Given the description of an element on the screen output the (x, y) to click on. 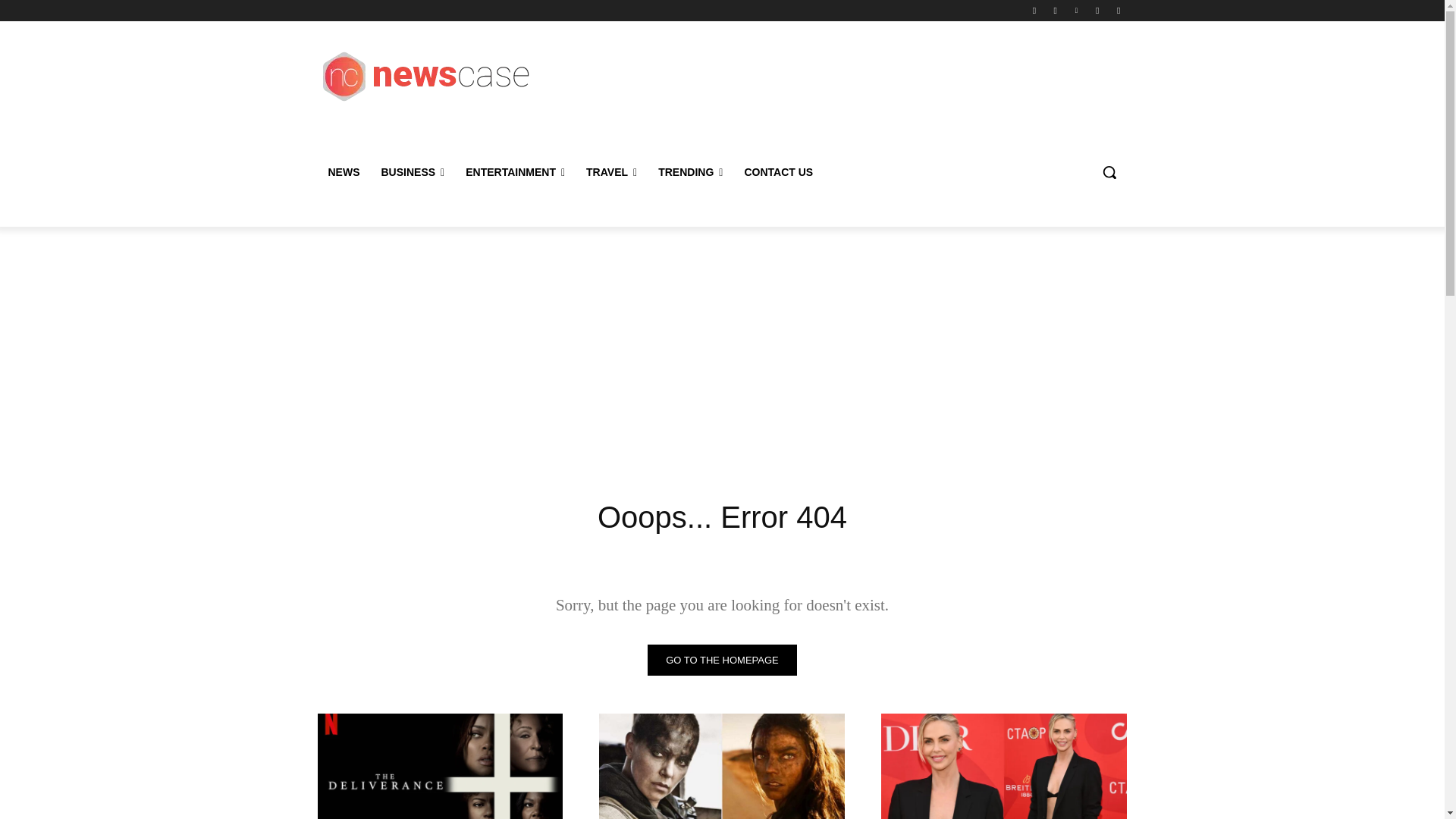
Go to the homepage (721, 659)
Instagram (1055, 9)
Tumblr (1097, 9)
ENTERTAINMENT (514, 171)
NEWS (343, 171)
TRAVEL (611, 171)
TRENDING (690, 171)
Facebook (1034, 9)
Linkedin (1075, 9)
BUSINESS (411, 171)
Twitter (1117, 9)
